Given the description of an element on the screen output the (x, y) to click on. 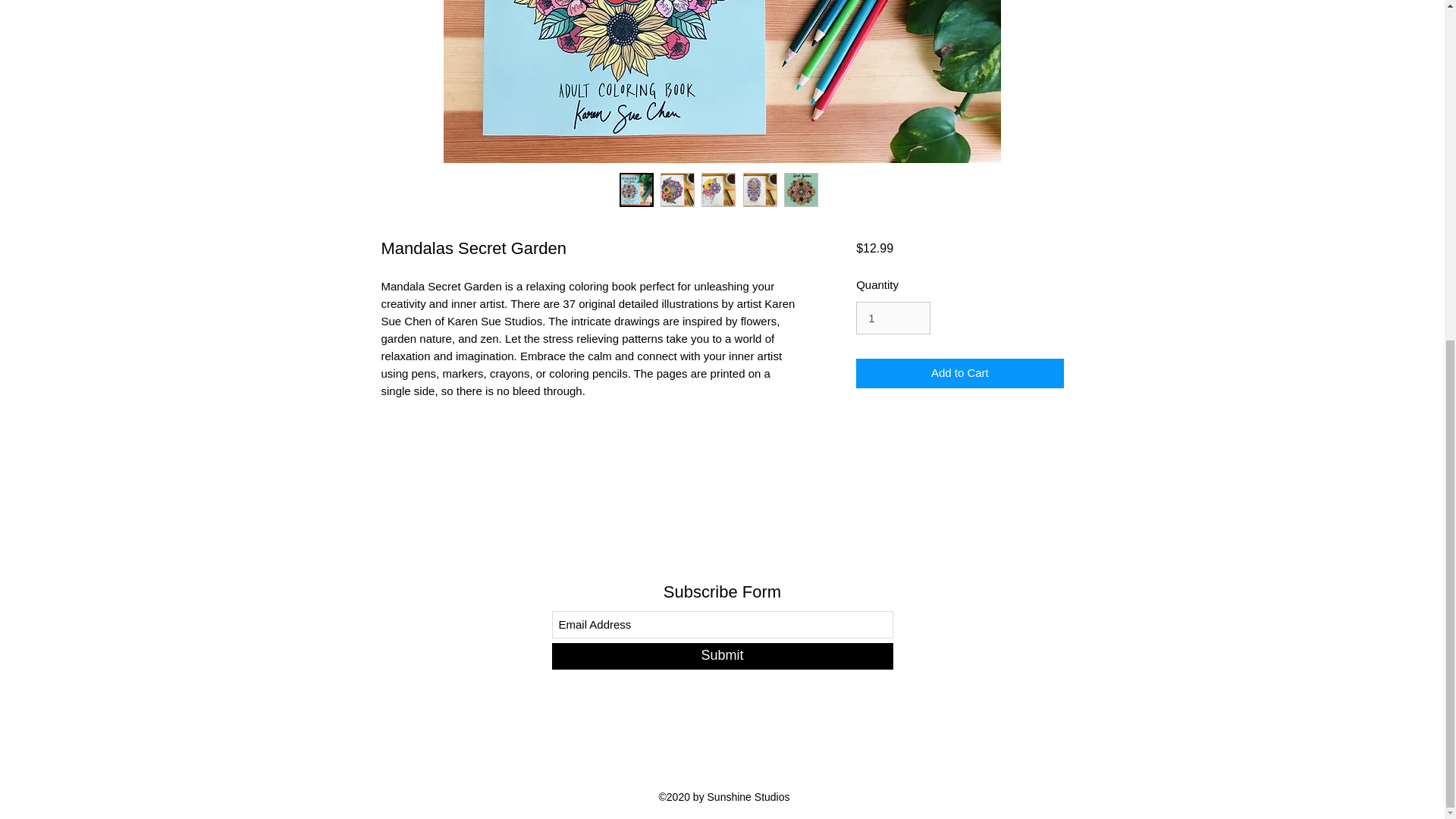
Add to Cart (959, 373)
Submit (722, 655)
1 (893, 318)
